Given the description of an element on the screen output the (x, y) to click on. 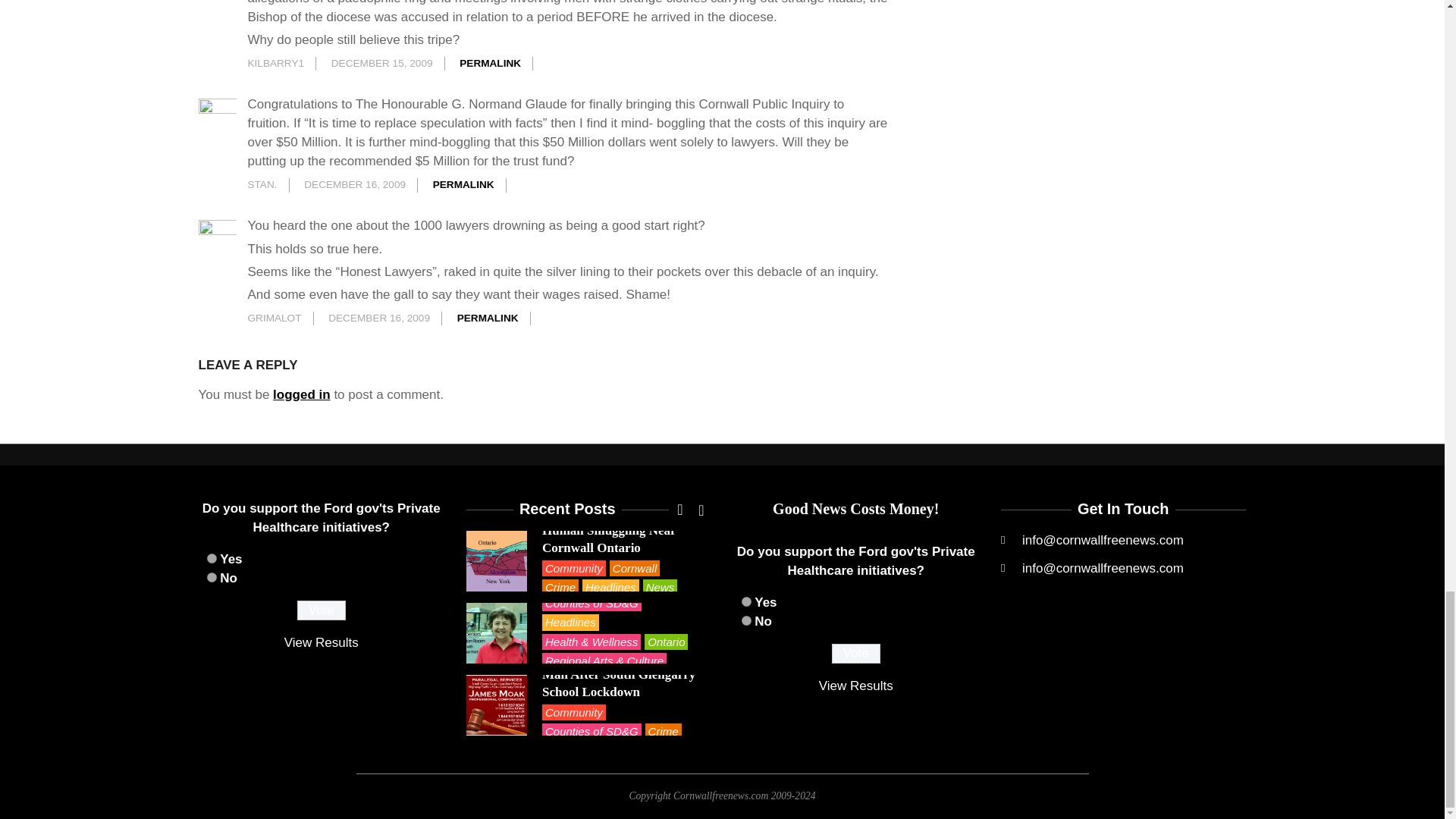
1776 (210, 558)
1776 (746, 601)
1777 (746, 620)
   Vote    (321, 609)
   Vote    (855, 653)
1777 (210, 577)
Tuesday, December 15, 2009, 6:07 pm (381, 62)
Wednesday, December 16, 2009, 9:25 am (355, 184)
Wednesday, December 16, 2009, 1:02 pm (379, 317)
